Given the description of an element on the screen output the (x, y) to click on. 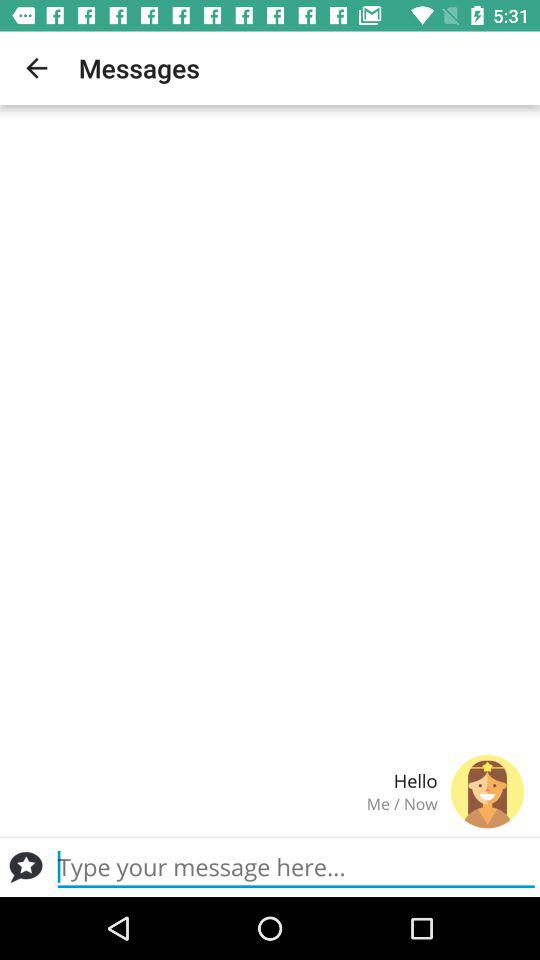
open the icon below the hello (226, 803)
